Given the description of an element on the screen output the (x, y) to click on. 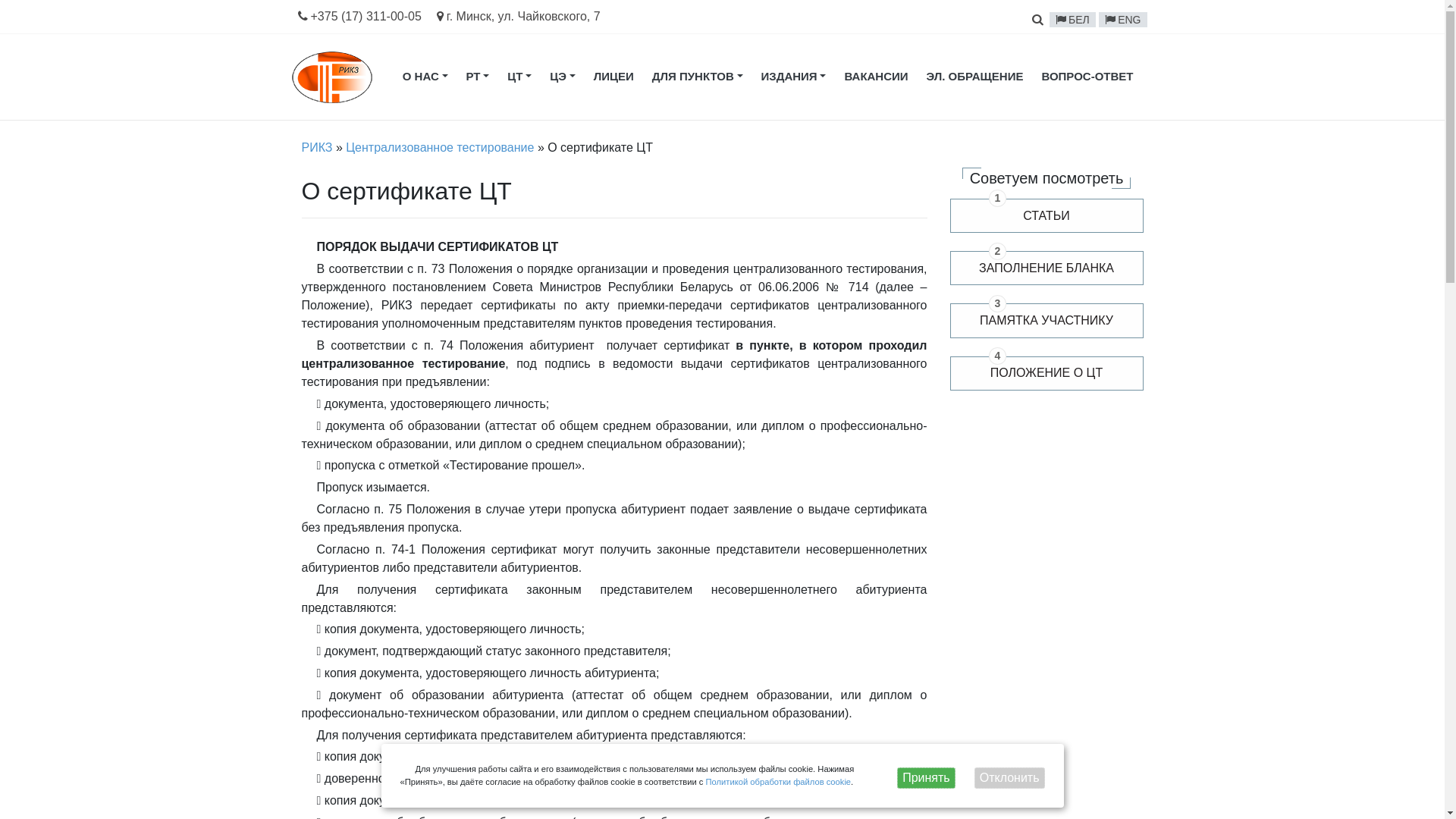
+375 (17) 311-00-05 Element type: text (358, 15)
ENG Element type: text (1122, 19)
